Given the description of an element on the screen output the (x, y) to click on. 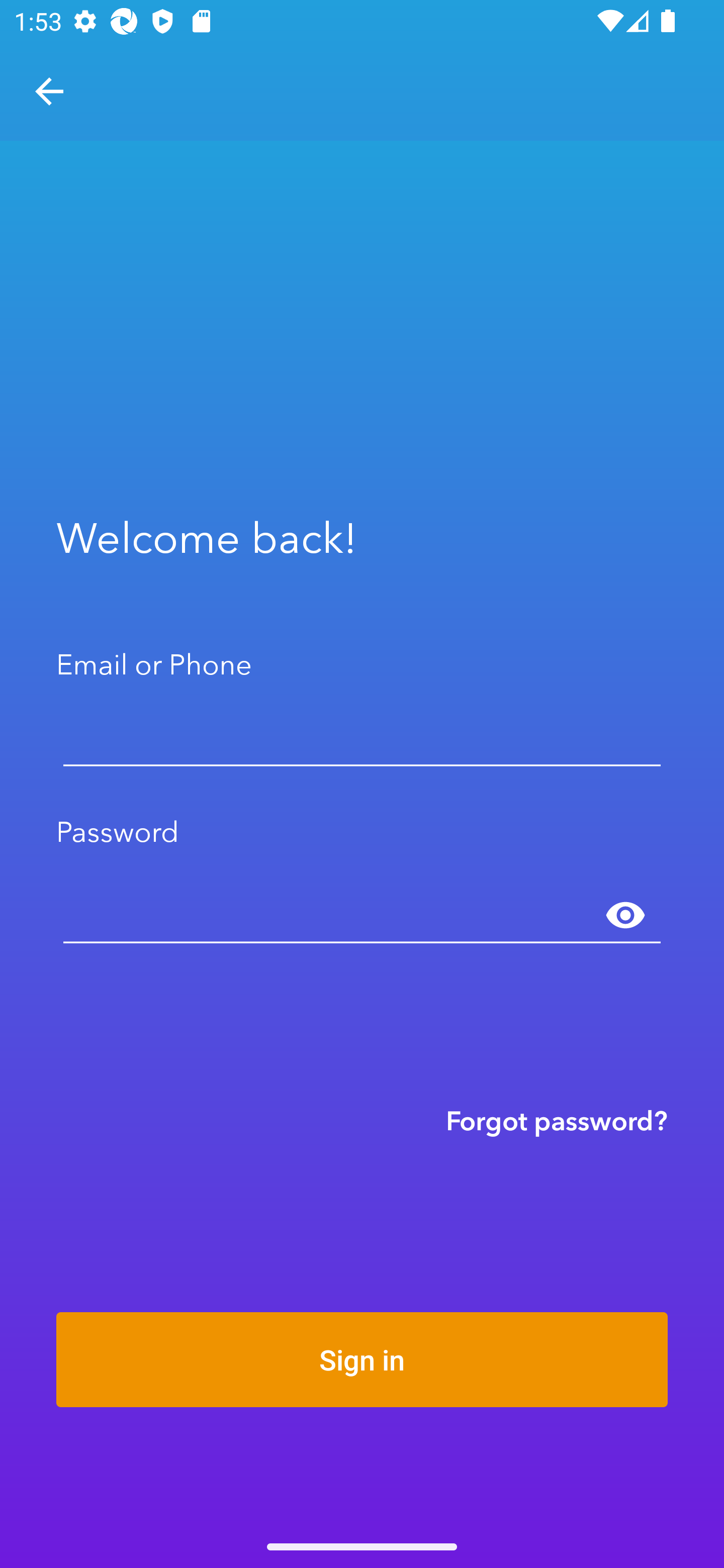
Navigate up (49, 91)
Show password (625, 915)
Forgot password? (556, 1119)
Sign in (361, 1359)
